Given the description of an element on the screen output the (x, y) to click on. 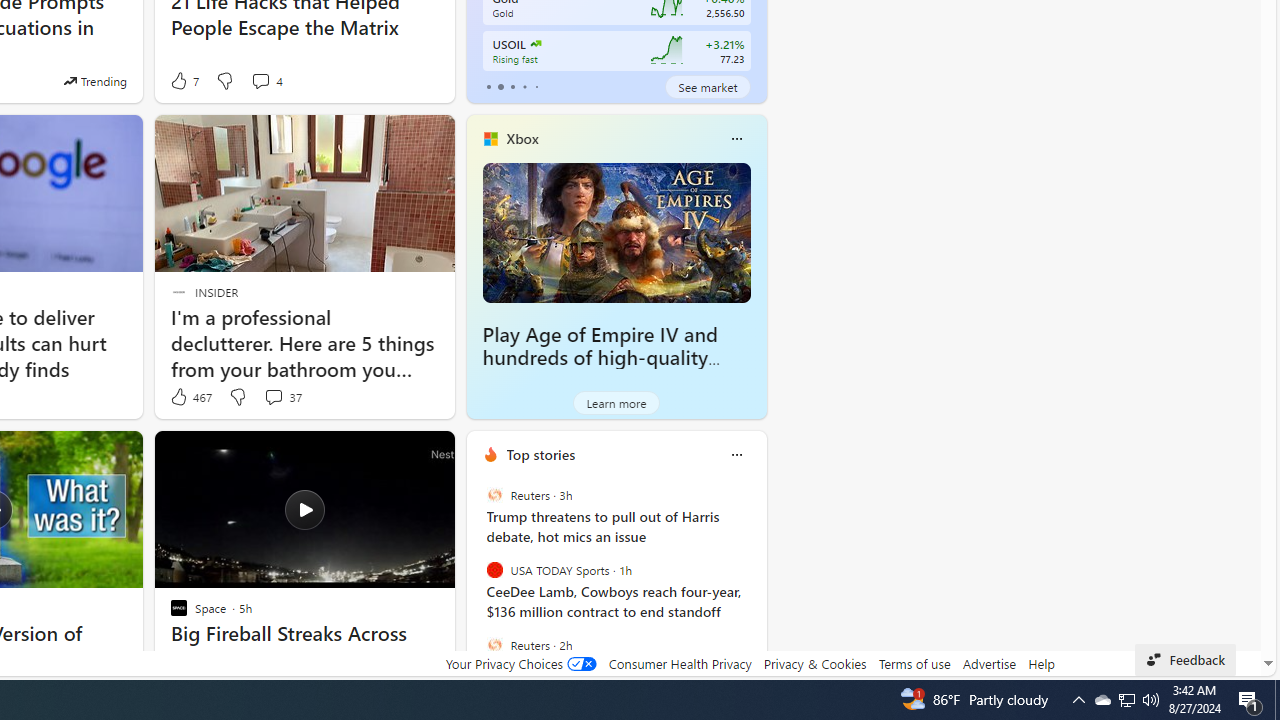
Consumer Health Privacy (680, 663)
Reuters (494, 644)
tab-4 (535, 86)
7 Like (183, 80)
previous (476, 583)
View comments 37 Comment (281, 397)
Learn more (616, 402)
View comments 4 Comment (260, 80)
Xbox (521, 139)
Feedback (1185, 659)
Top stories (540, 454)
